Given the description of an element on the screen output the (x, y) to click on. 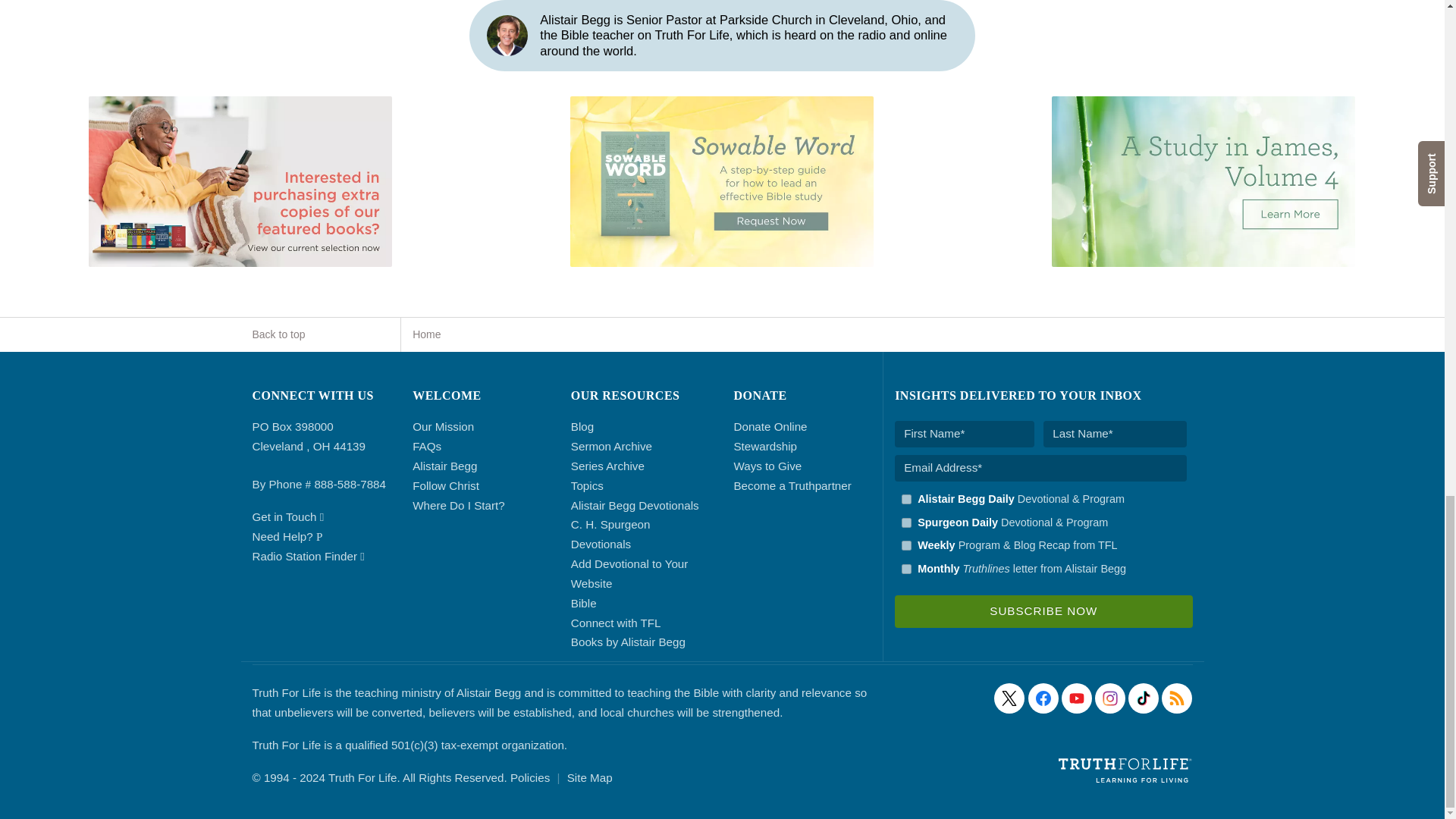
Facebook (1042, 698)
Daily Devotional (906, 522)
YouTube (1076, 698)
Weekly Recap (906, 545)
Monthly letter from Alistair Begg (906, 569)
Twitter (1009, 698)
TikTok (1143, 698)
Alistair Begg Daily Devotional (906, 499)
Subscribe Now (1043, 611)
Instagram (1109, 698)
